Given the description of an element on the screen output the (x, y) to click on. 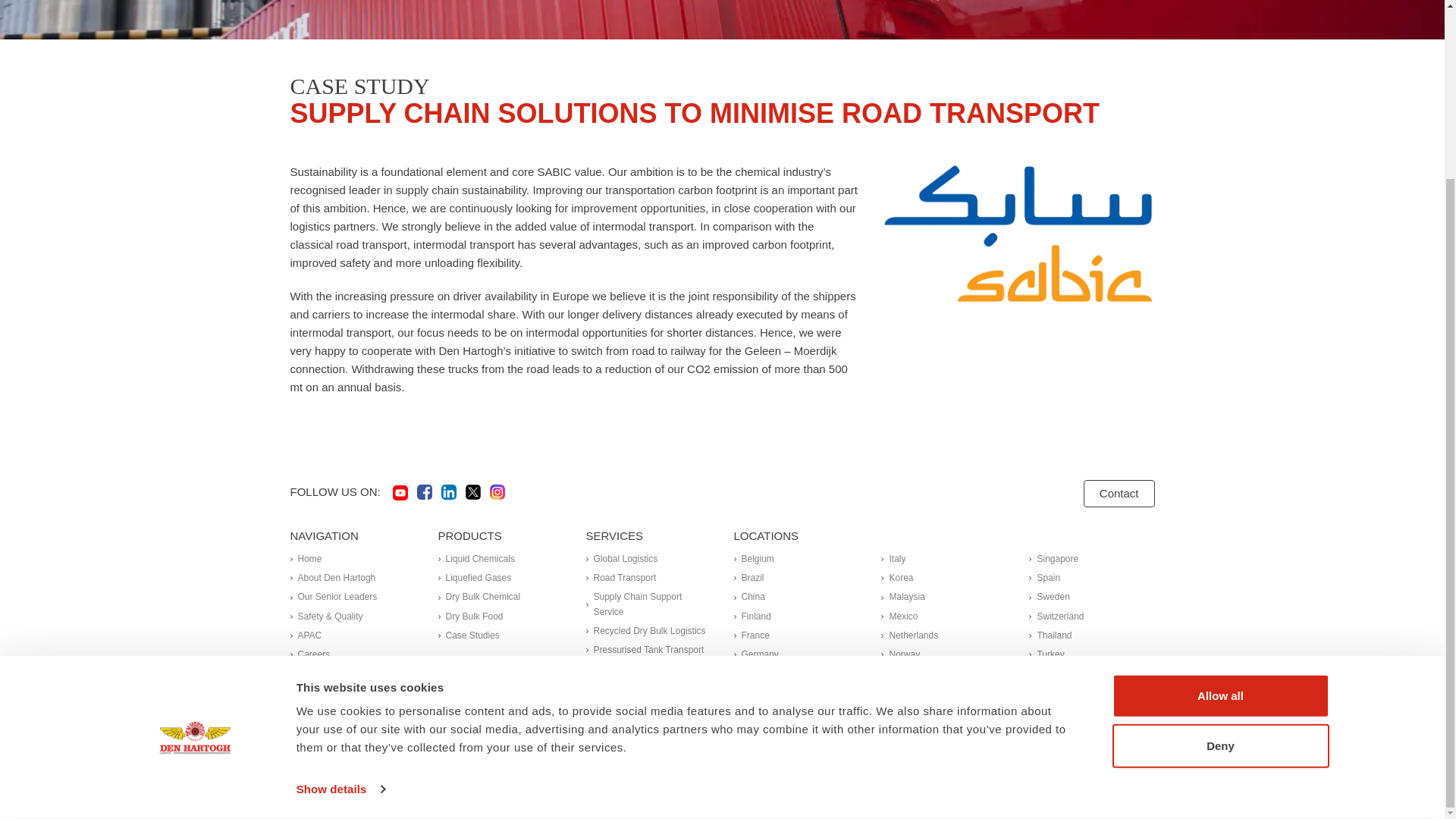
Allow all (1219, 477)
Show details (340, 570)
Deny (1219, 526)
